Given the description of an element on the screen output the (x, y) to click on. 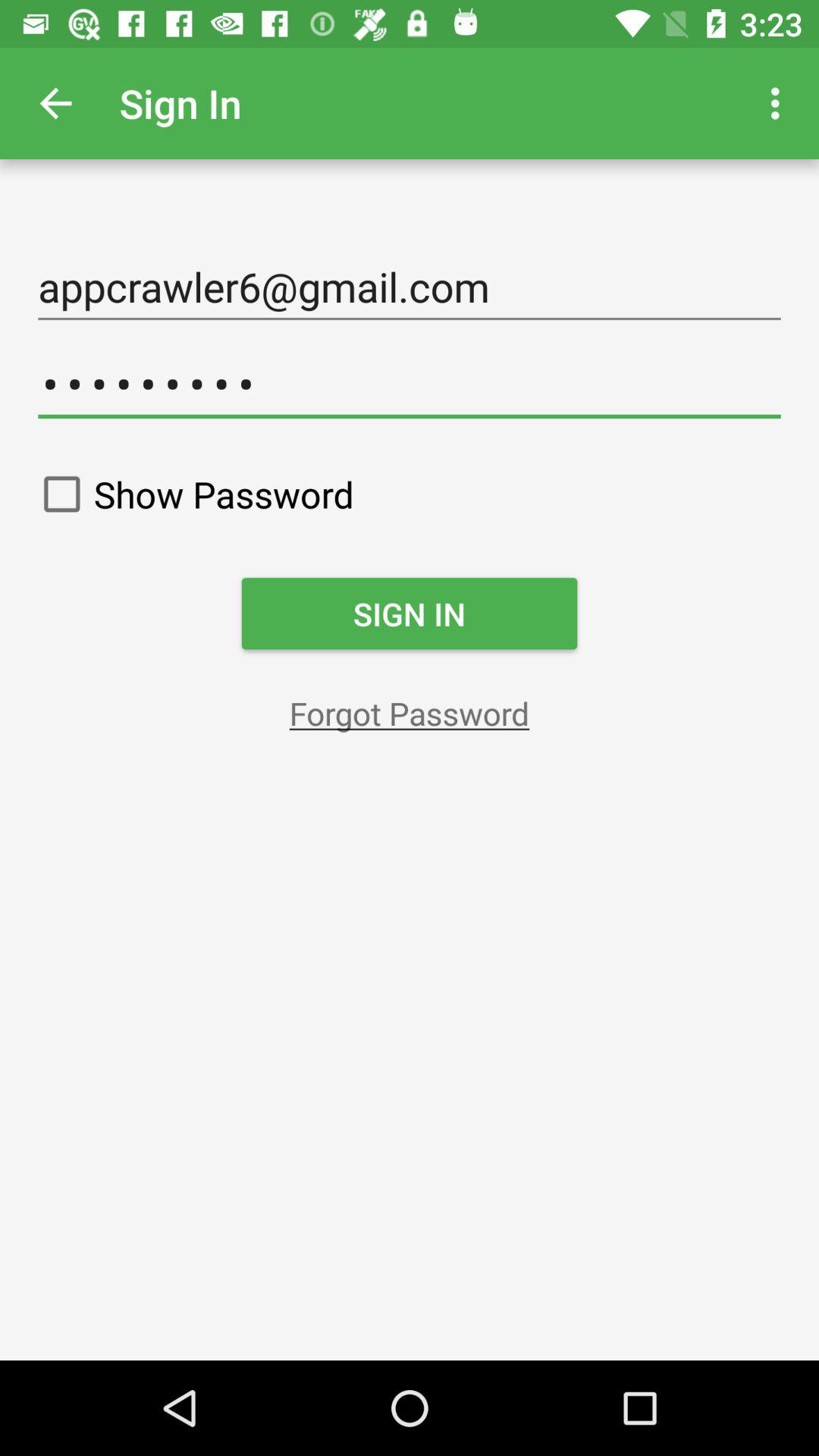
click the app next to sign in app (779, 103)
